Given the description of an element on the screen output the (x, y) to click on. 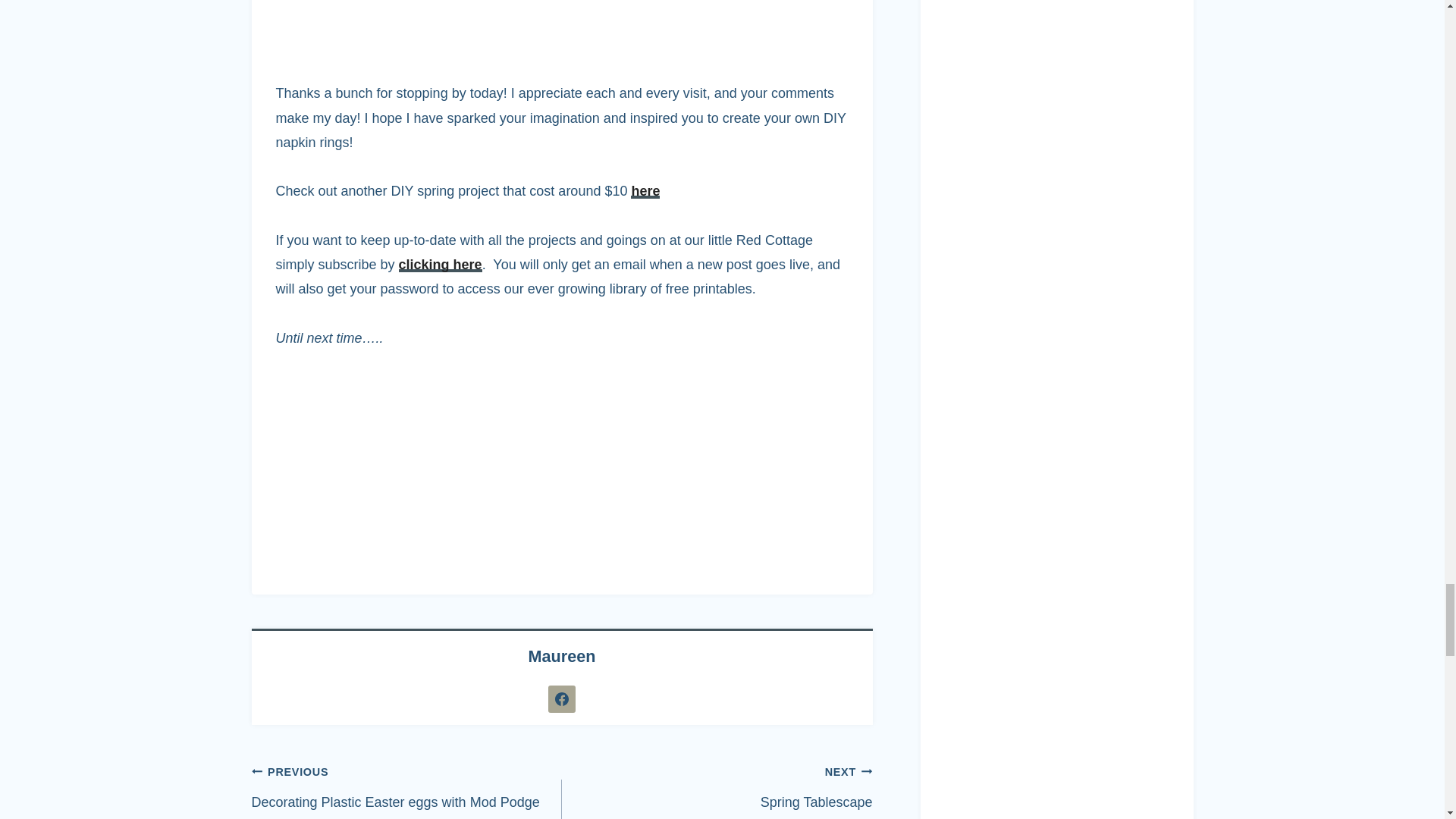
Follow Maureen on Facebook (561, 698)
Posts by Maureen (561, 656)
